Given the description of an element on the screen output the (x, y) to click on. 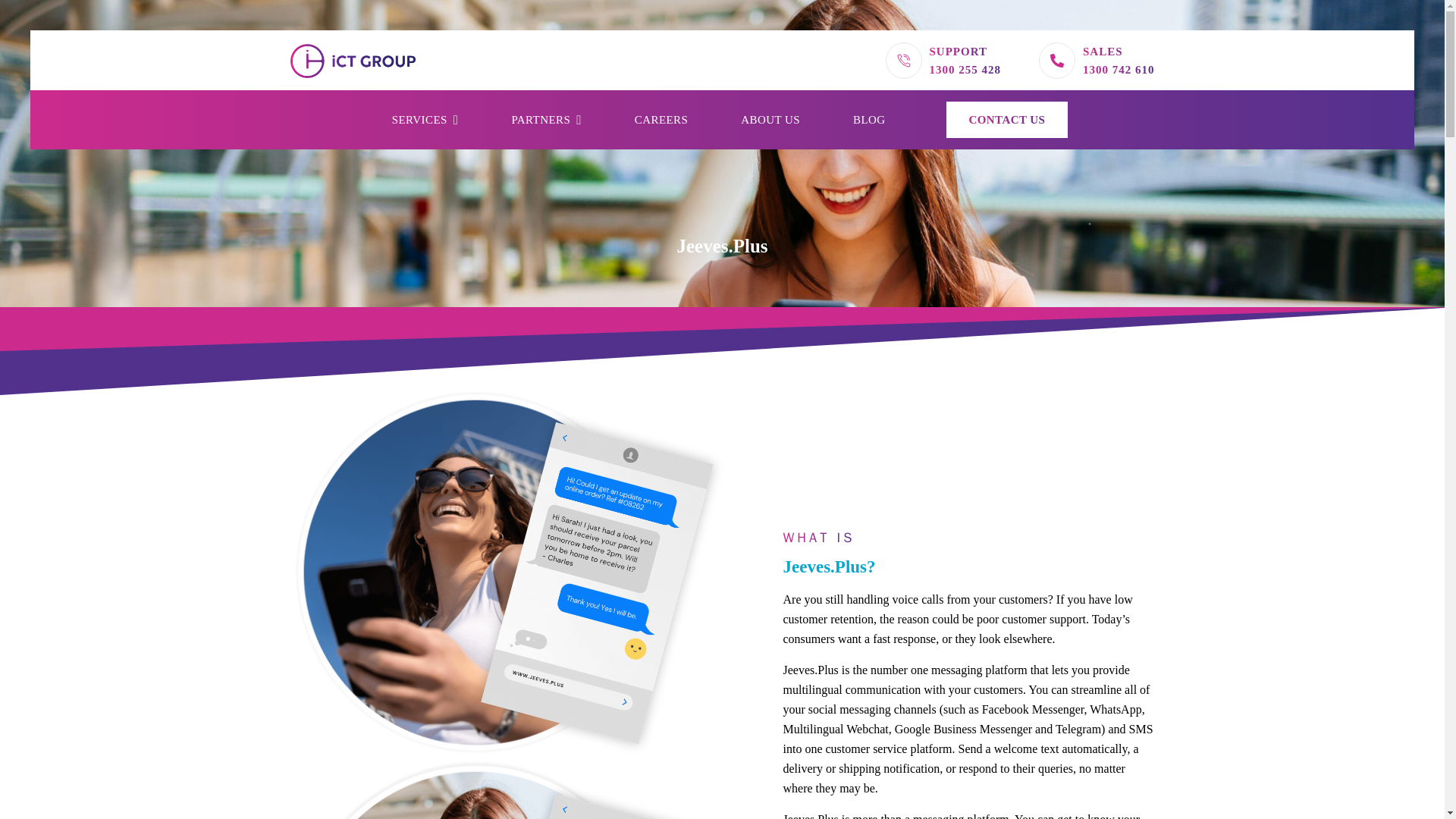
1300 742 610 (1118, 69)
SERVICES (425, 119)
iCT Group (351, 60)
1300 255 428 (965, 69)
